Given the description of an element on the screen output the (x, y) to click on. 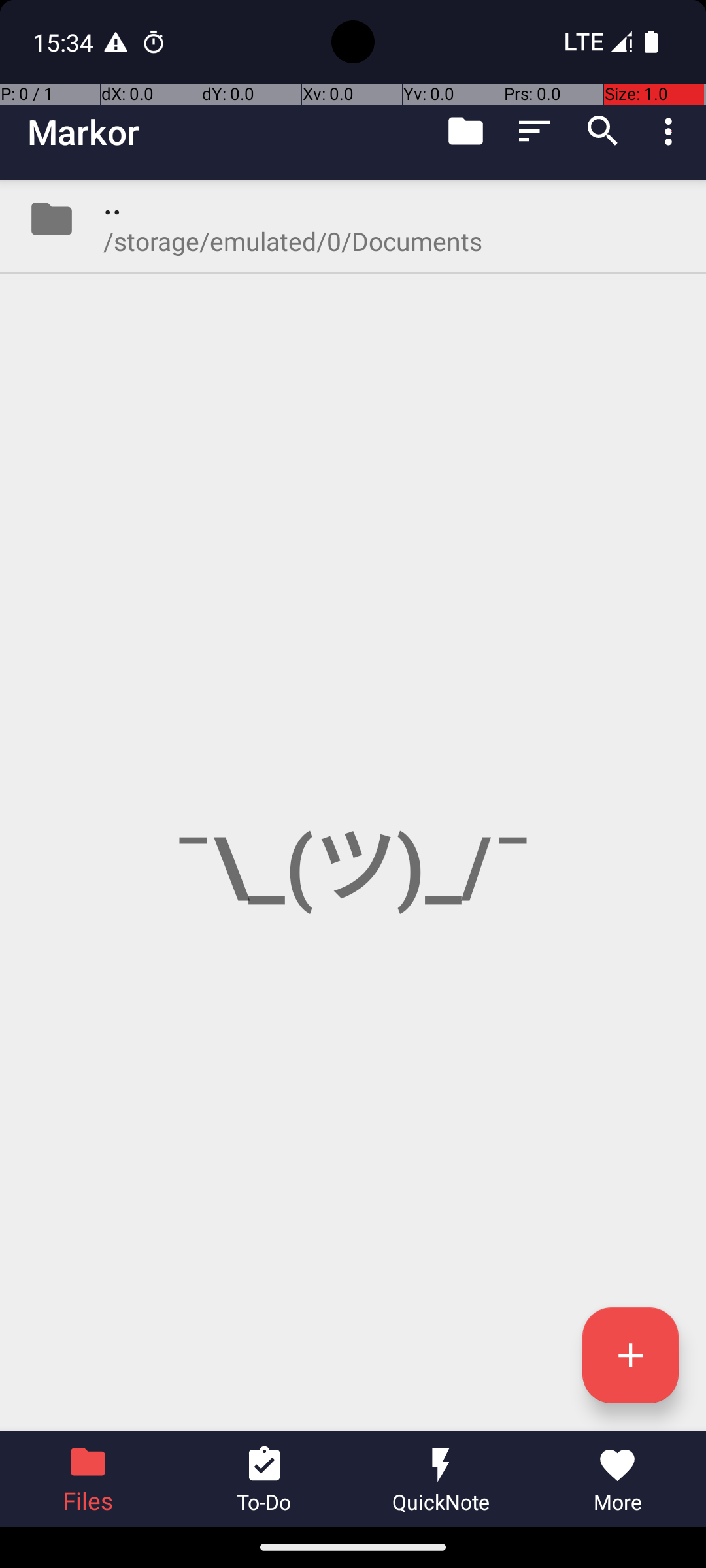
¯\_(ツ)_/¯ Element type: android.widget.TextView (353, 804)
